Given the description of an element on the screen output the (x, y) to click on. 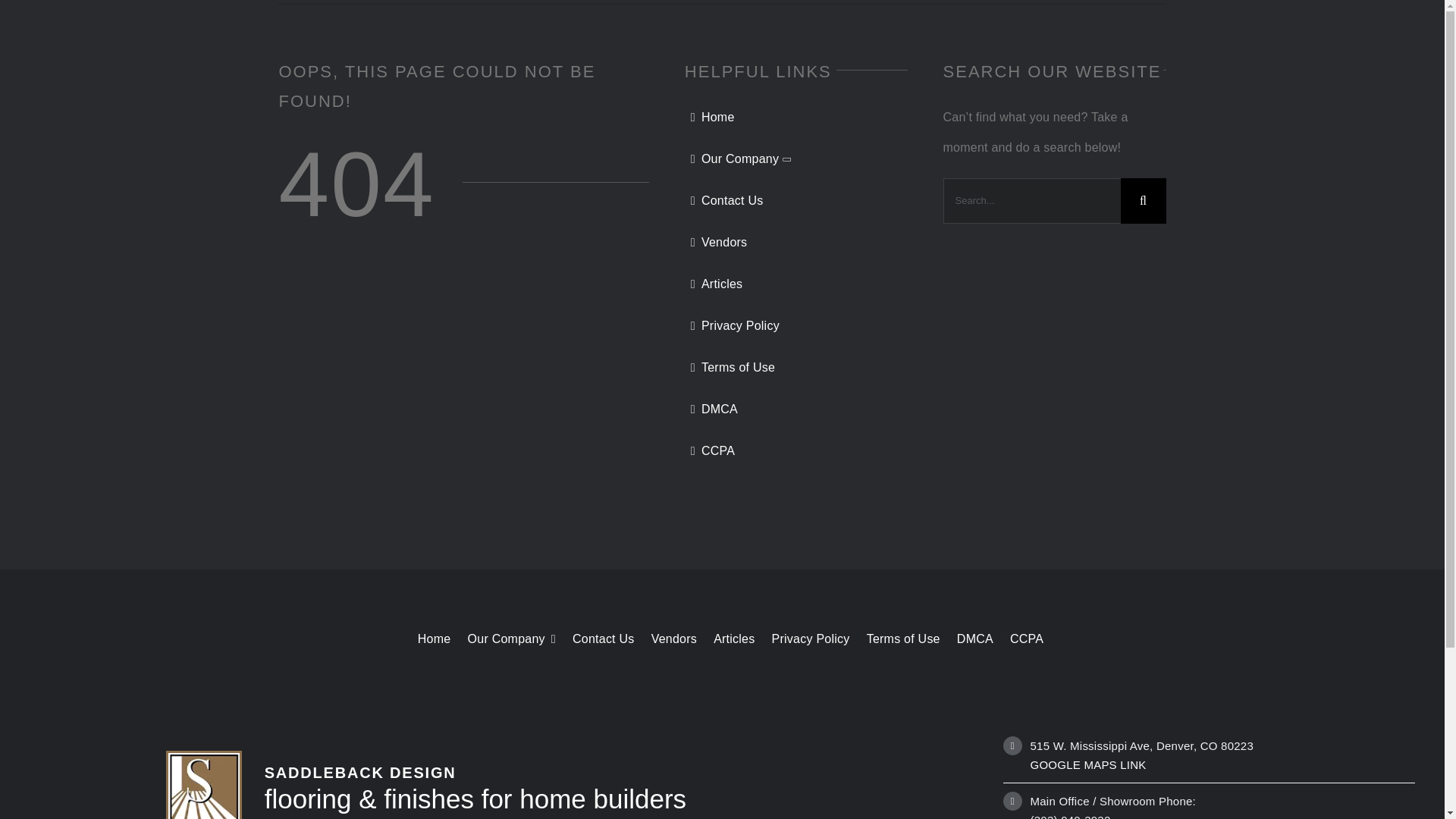
Privacy Policy (795, 326)
Home (795, 117)
Contact Us (595, 639)
Home (426, 639)
CCPA (1017, 639)
Privacy Policy (802, 639)
Saddleback Design (204, 785)
Our Company (501, 639)
DMCA (966, 639)
CCPA (795, 450)
Contact Us (795, 200)
Terms of Use (795, 367)
Articles (725, 639)
Articles (795, 284)
Our Company (795, 159)
